Given the description of an element on the screen output the (x, y) to click on. 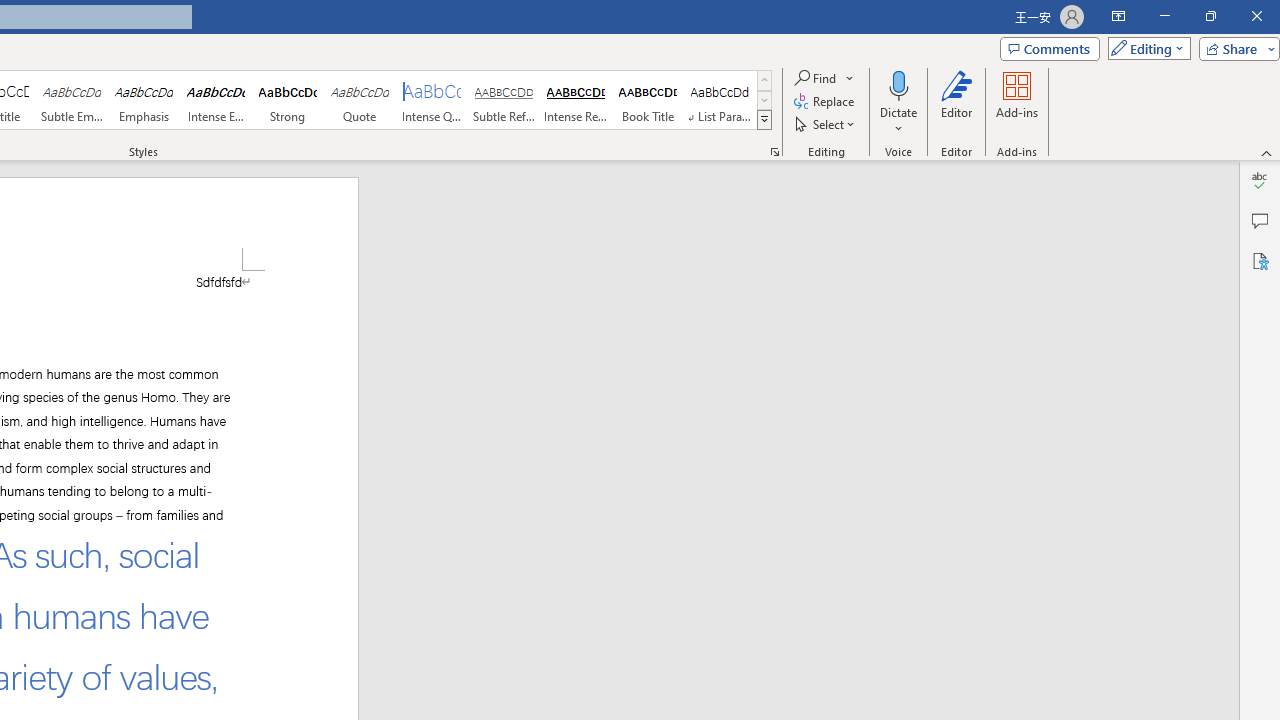
Select (826, 124)
Editing (1144, 47)
Emphasis (143, 100)
Replace... (826, 101)
Styles (763, 120)
Accessibility (1260, 260)
